Given the description of an element on the screen output the (x, y) to click on. 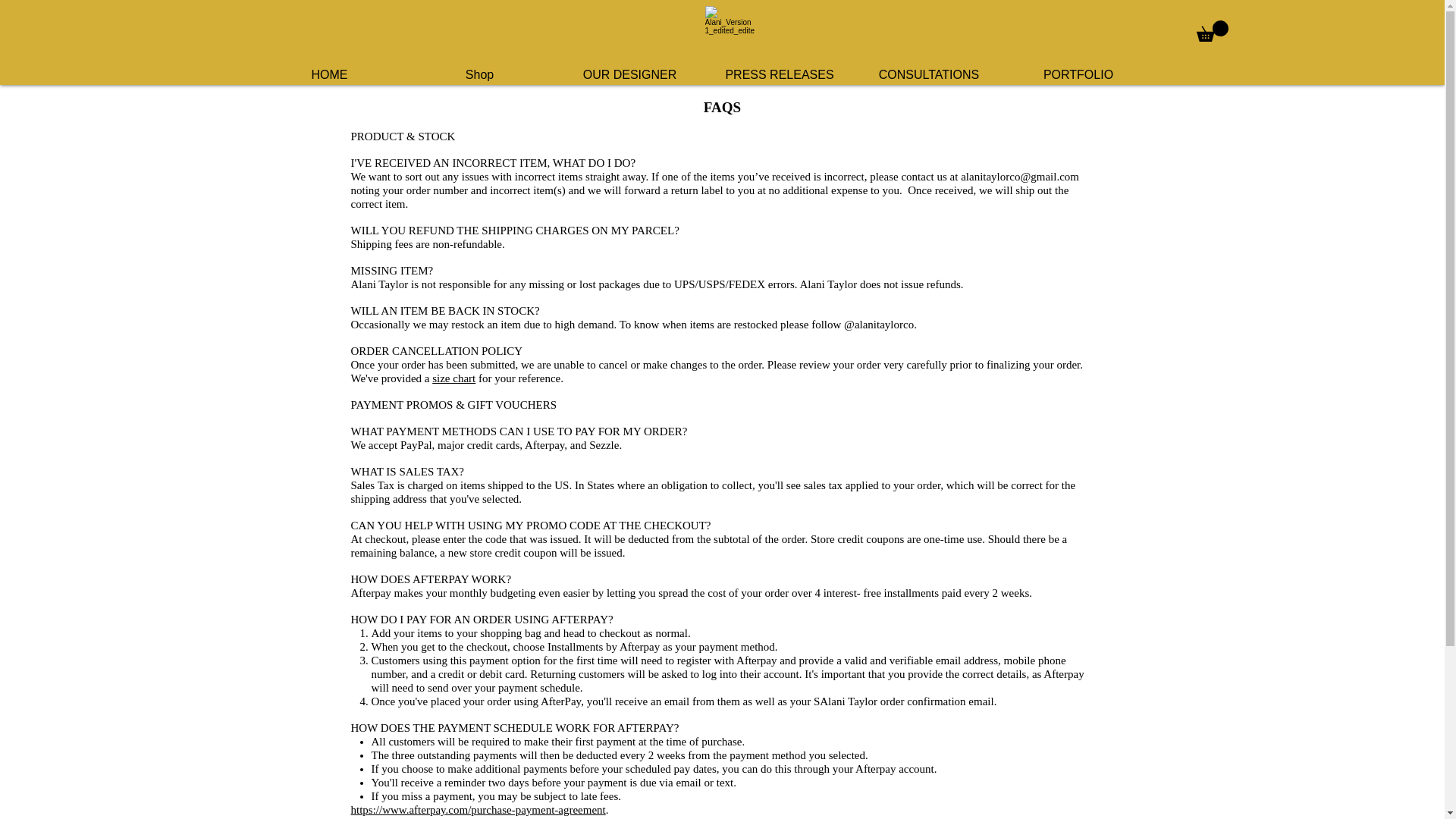
size chart (454, 378)
Shop (479, 74)
HOME (329, 74)
OUR DESIGNER (629, 74)
PORTFOLIO (1078, 74)
PRESS RELEASES (779, 74)
CONSULTATIONS (928, 74)
